Given the description of an element on the screen output the (x, y) to click on. 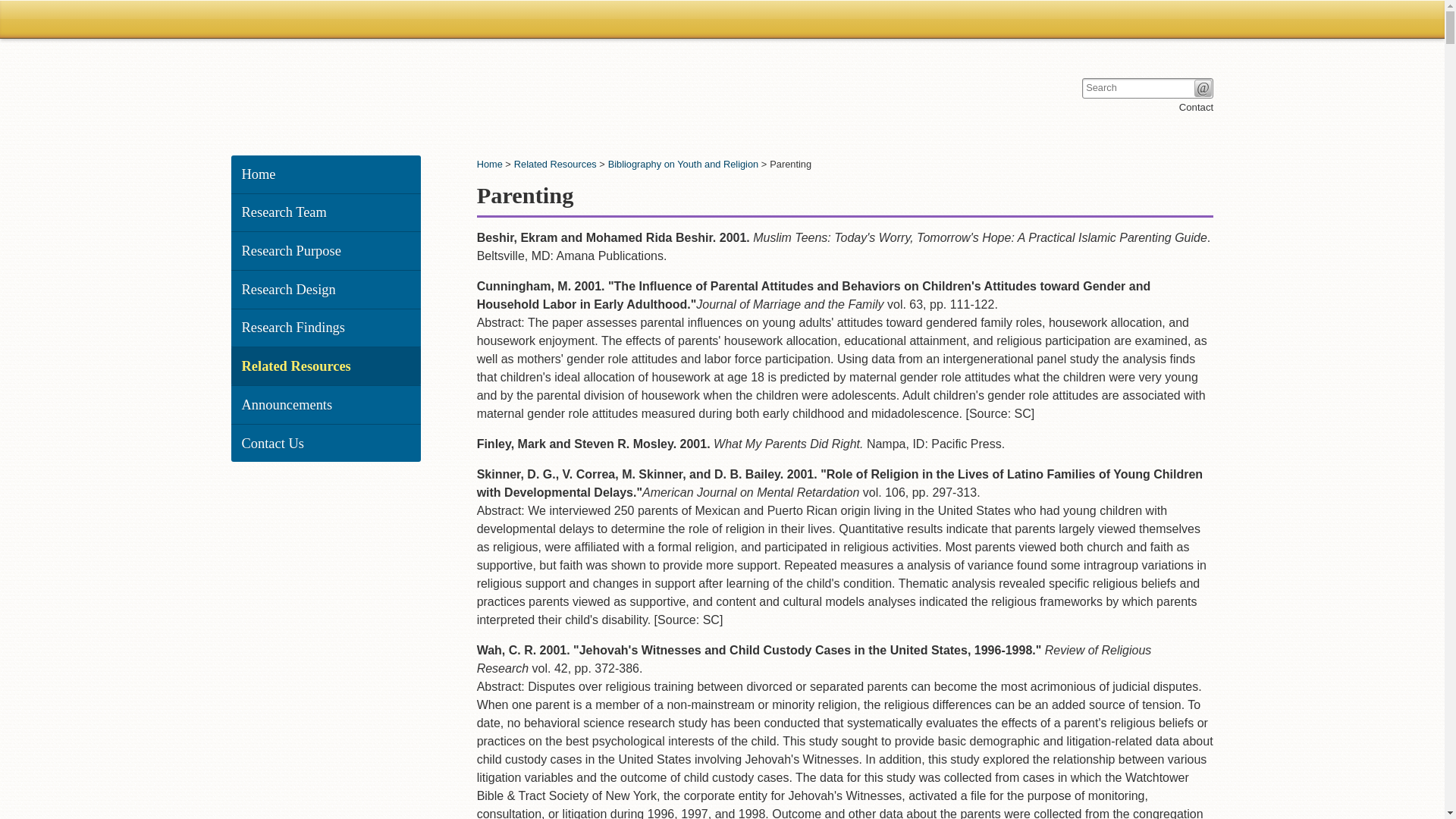
Home (489, 163)
Research Findings (325, 328)
Contact (1195, 107)
University Notre Dame (345, 18)
Bibliography on Youth and Religion (683, 163)
Search (1202, 88)
Contact Us (325, 443)
Home (325, 174)
Research Design (325, 289)
Research Team (325, 212)
Related Resources (554, 163)
Youth and Religion (309, 90)
Related Resources (325, 365)
Announcements (325, 404)
Research Purpose (325, 250)
